Given the description of an element on the screen output the (x, y) to click on. 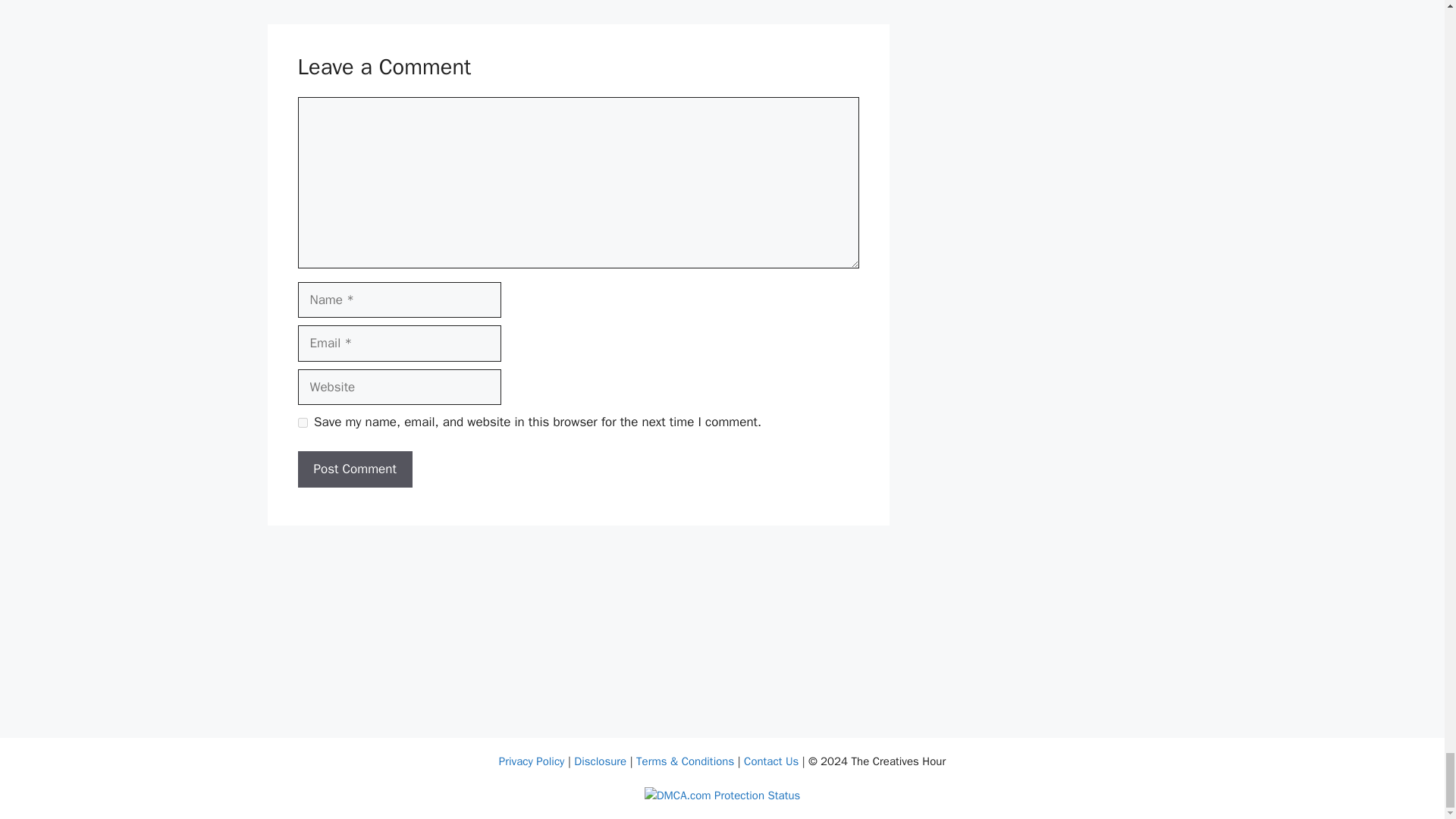
Post Comment (354, 469)
DMCA.com Protection Status (722, 795)
yes (302, 422)
